Given the description of an element on the screen output the (x, y) to click on. 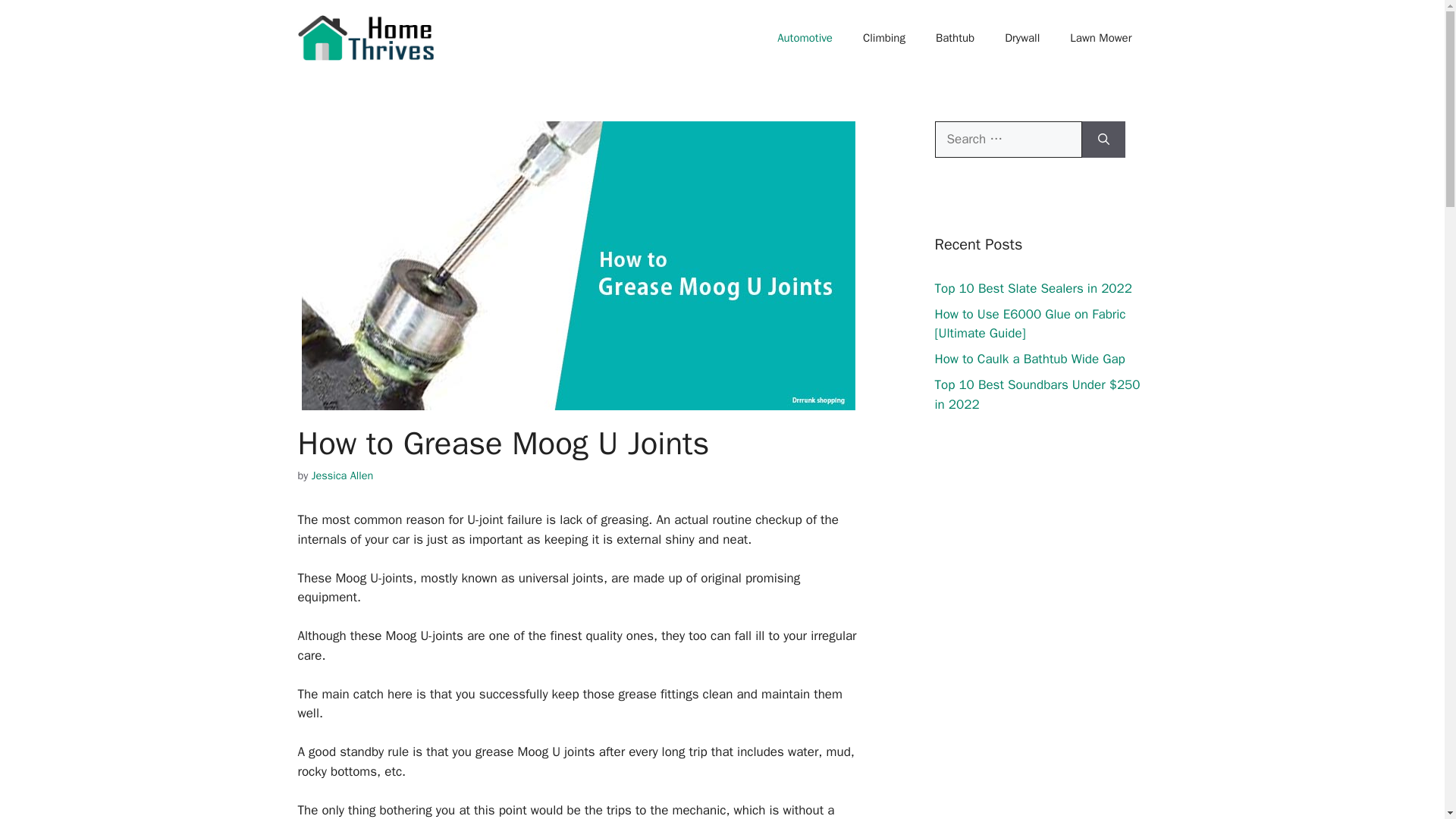
Drywall (1022, 37)
Top 10 Best Slate Sealers in 2022 (1032, 288)
Lawn Mower (1100, 37)
How to Caulk a Bathtub Wide Gap (1029, 358)
View all posts by Jessica Allen (342, 475)
Search for: (1007, 139)
Jessica Allen (342, 475)
Climbing (883, 37)
Automotive (804, 37)
Bathtub (955, 37)
